Given the description of an element on the screen output the (x, y) to click on. 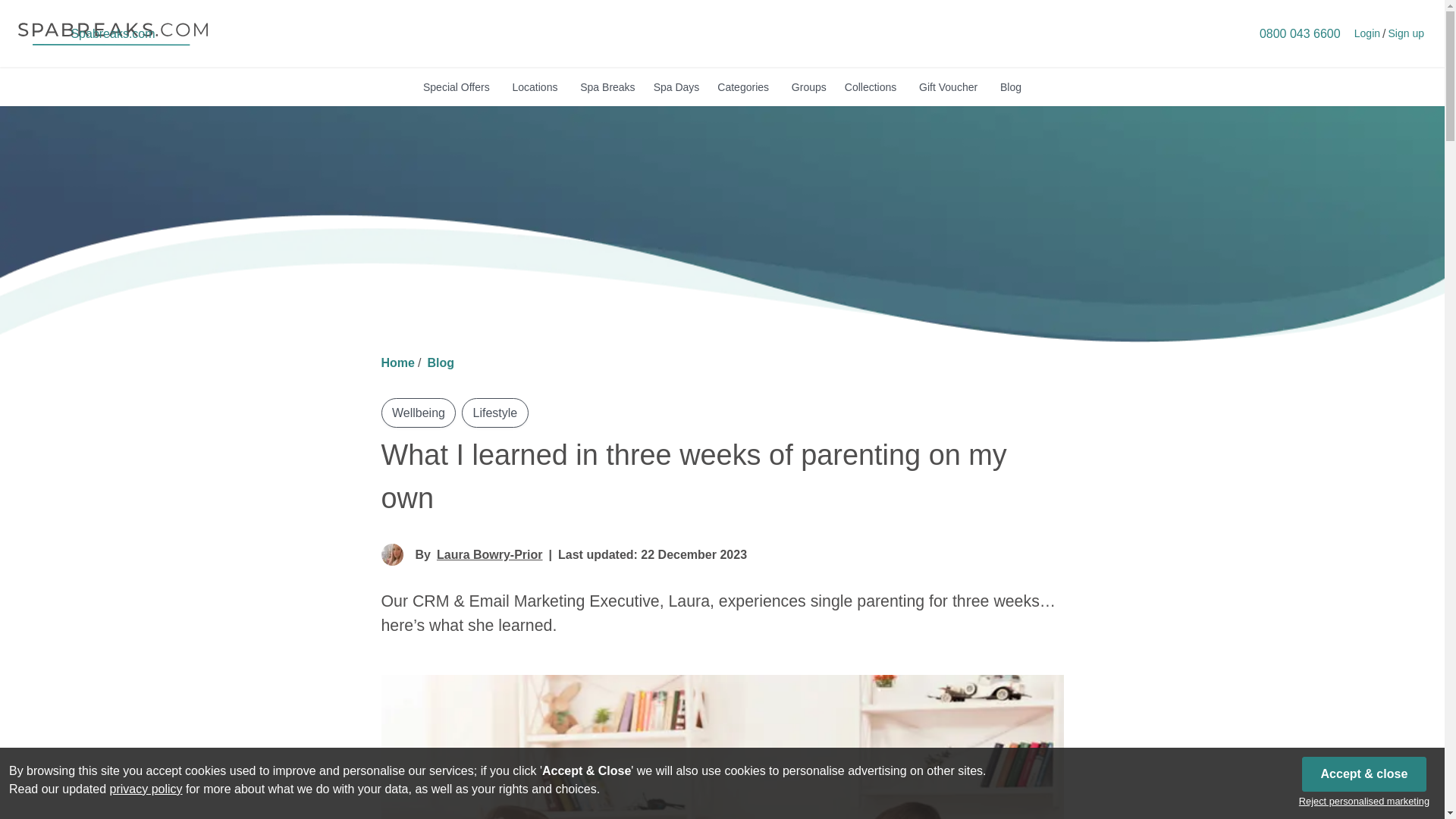
I consent (1363, 773)
Spa Breaks (606, 86)
0800 043 6600 (1299, 33)
Spabreaks.com (112, 33)
Spa Days (677, 86)
Categories (745, 86)
Special Offers (458, 86)
Locations (536, 86)
I do not consent (1363, 800)
Login (1366, 33)
